Given the description of an element on the screen output the (x, y) to click on. 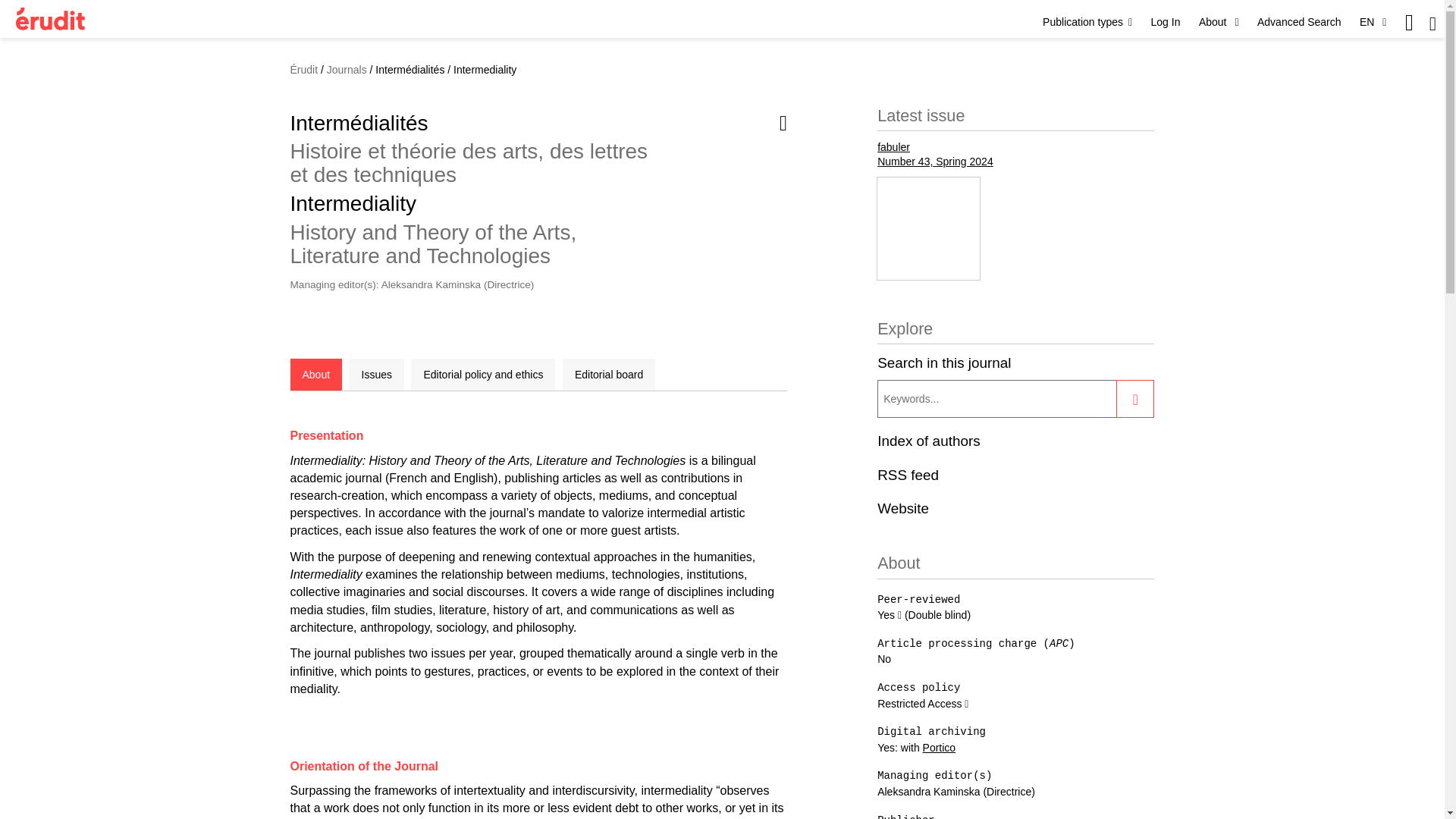
Editorial board (608, 374)
Go to homepage (50, 18)
About (315, 374)
Make an advanced search (1298, 21)
Log In (1165, 21)
Go to Dashboard (1165, 21)
Issues (376, 374)
Publication types (1087, 21)
Editorial policy and ethics (482, 374)
Journals (346, 69)
